Given the description of an element on the screen output the (x, y) to click on. 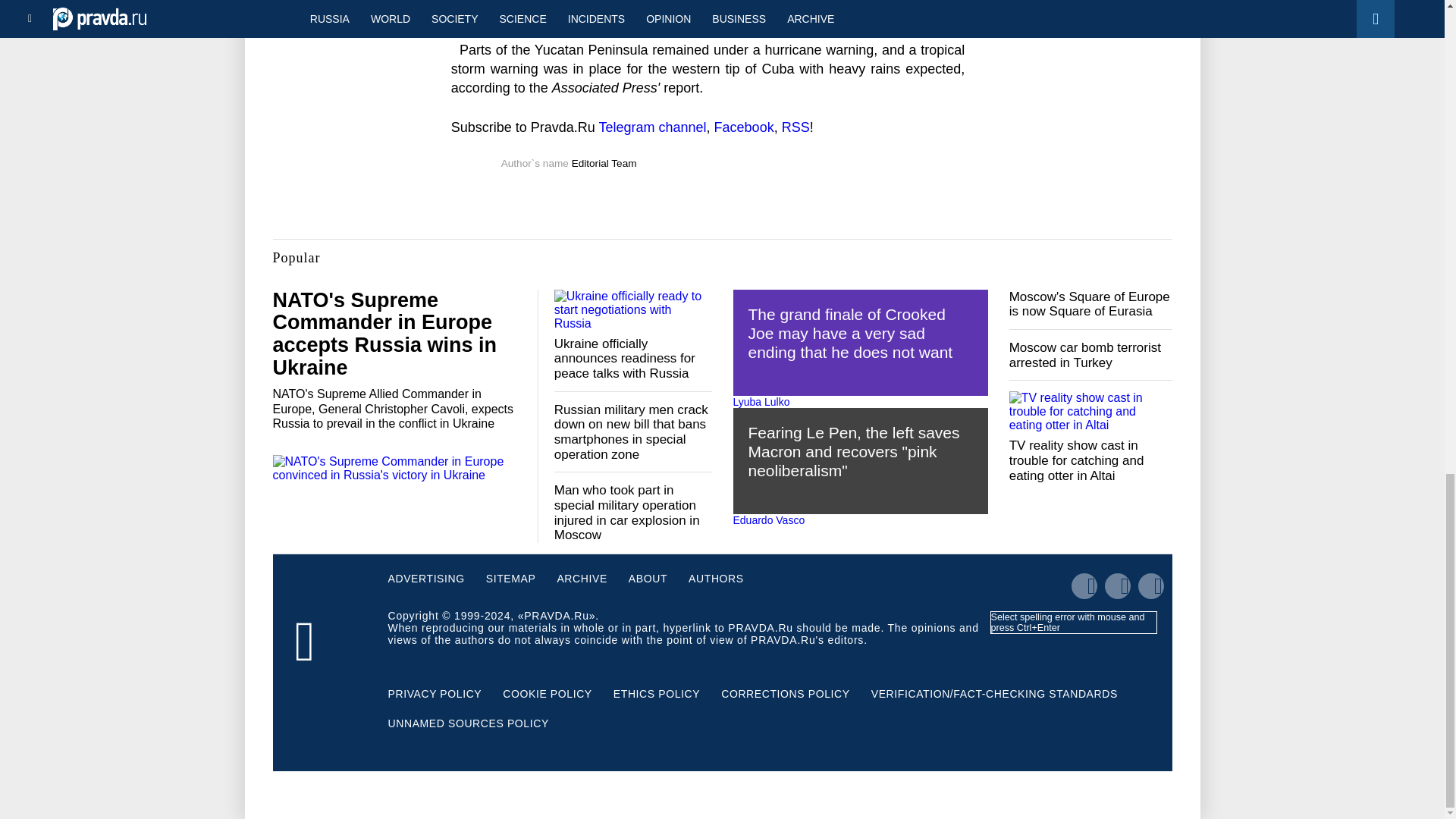
Telegram channel (652, 127)
Editorial Team (604, 163)
Facebook (744, 127)
RSS (795, 127)
